Given the description of an element on the screen output the (x, y) to click on. 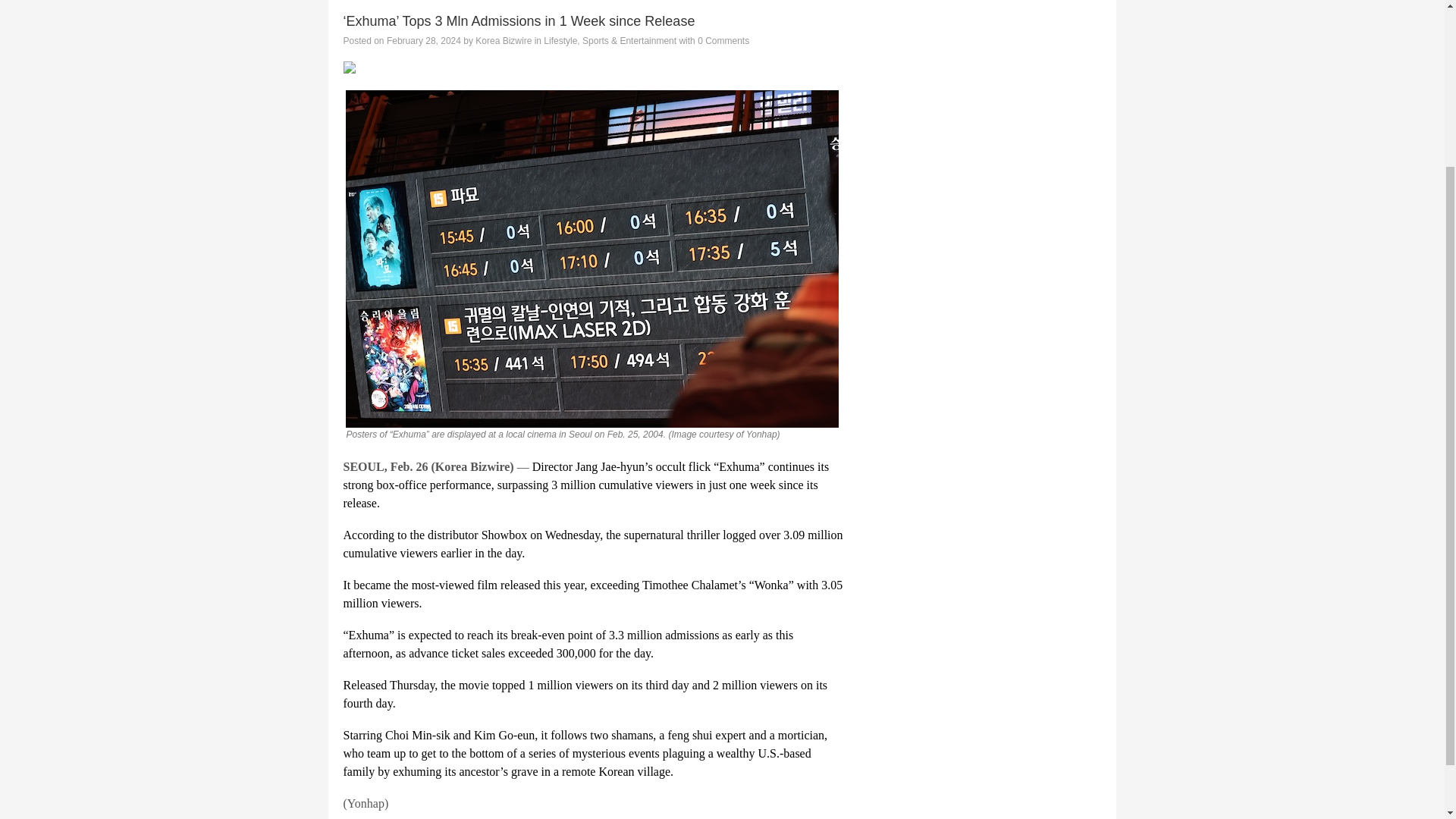
View all posts by Korea Bizwire (503, 40)
View all posts in Lifestyle (559, 40)
3:49 am (424, 40)
Print page (592, 67)
